Given the description of an element on the screen output the (x, y) to click on. 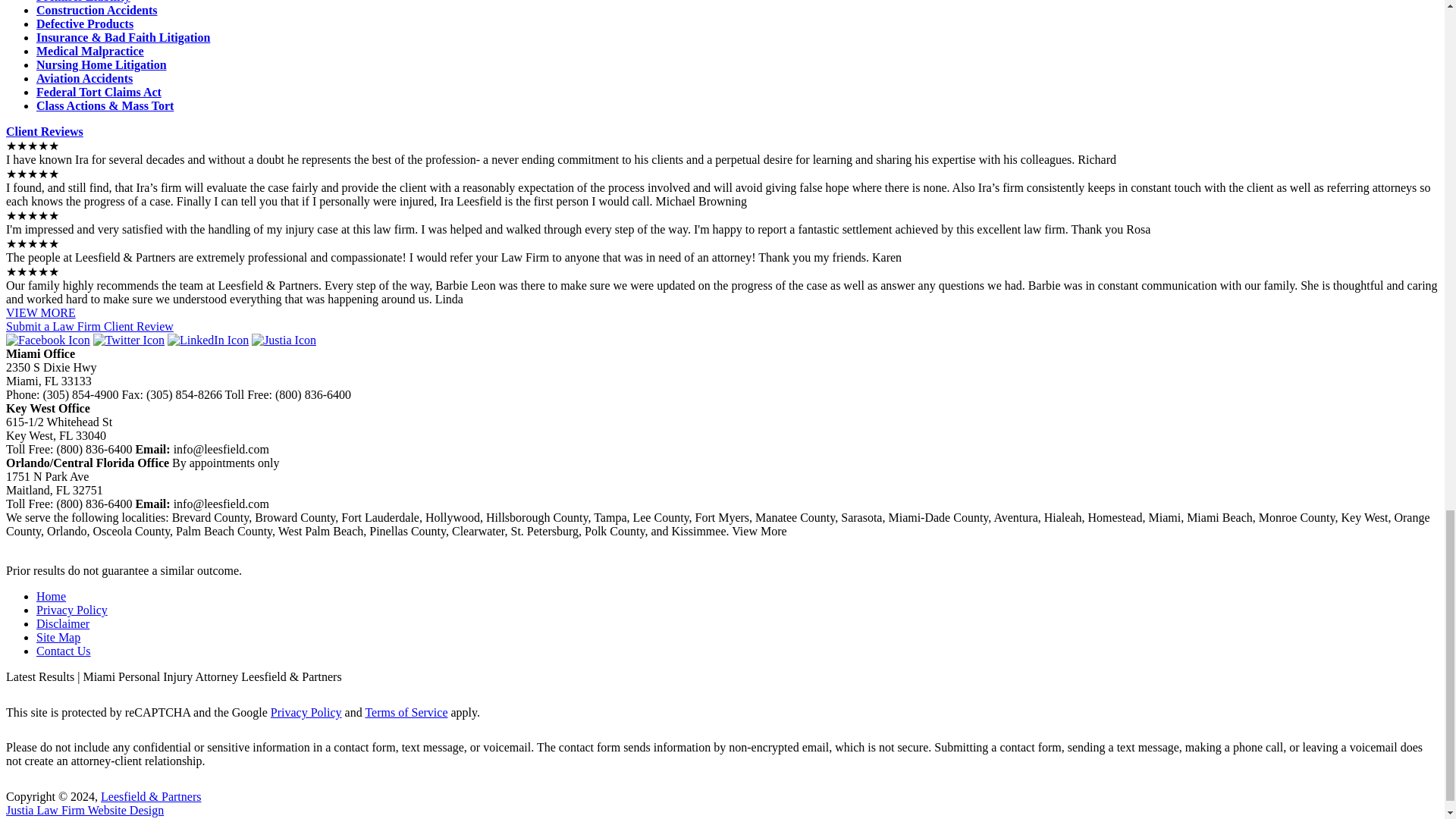
Twitter (128, 339)
LinkedIn (207, 339)
Facebook (47, 339)
Justia (283, 339)
